Given the description of an element on the screen output the (x, y) to click on. 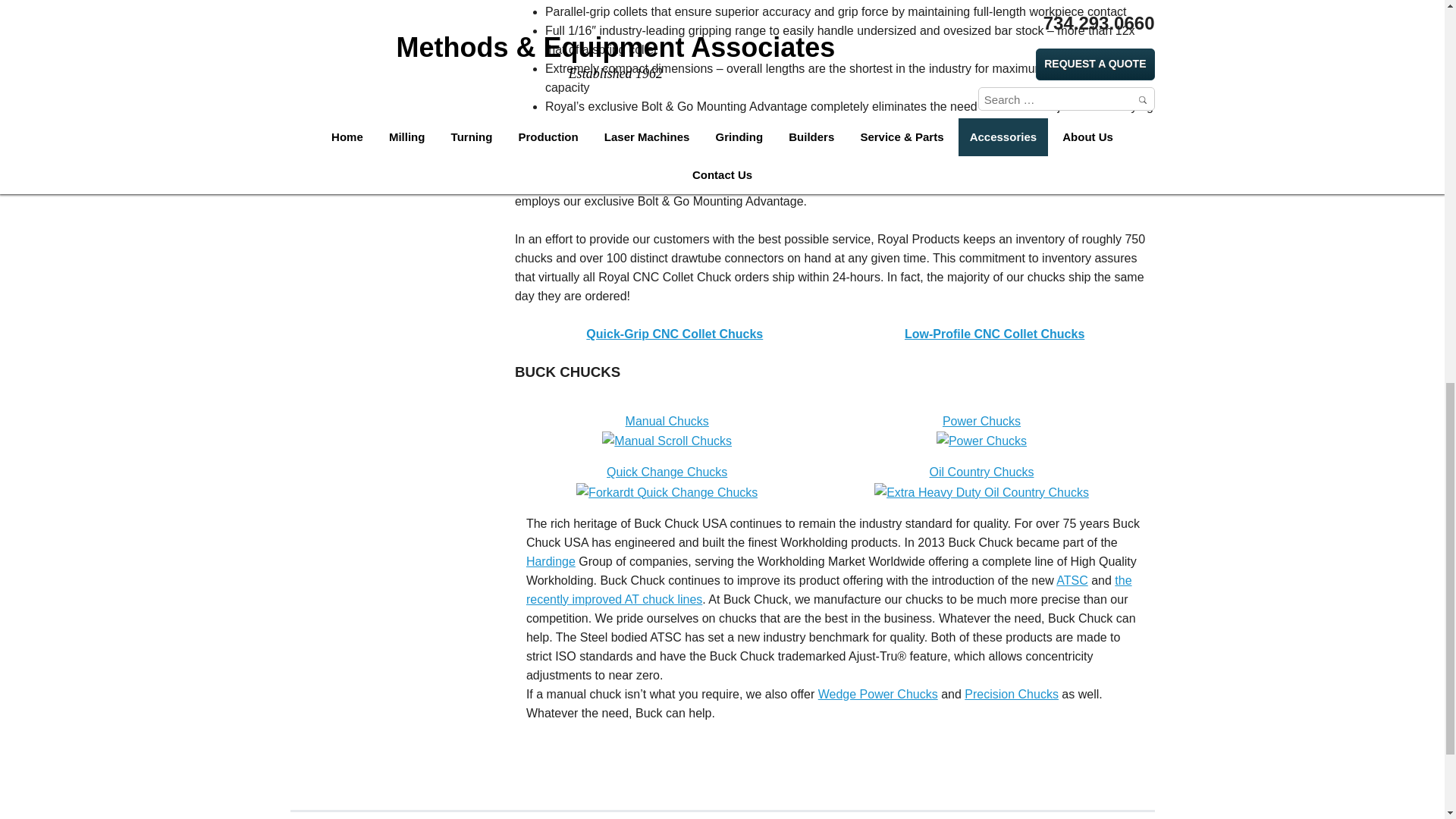
Click to view detail (994, 343)
Manual Chucks (667, 430)
Quick-Grip CNC Collet Chucks (674, 343)
Quick Change Chucks (666, 481)
Power Chucks (981, 430)
Click to view detail (674, 343)
Low-Profile CNC Collet Chucks (994, 343)
Oil Country Chucks (982, 481)
